Given the description of an element on the screen output the (x, y) to click on. 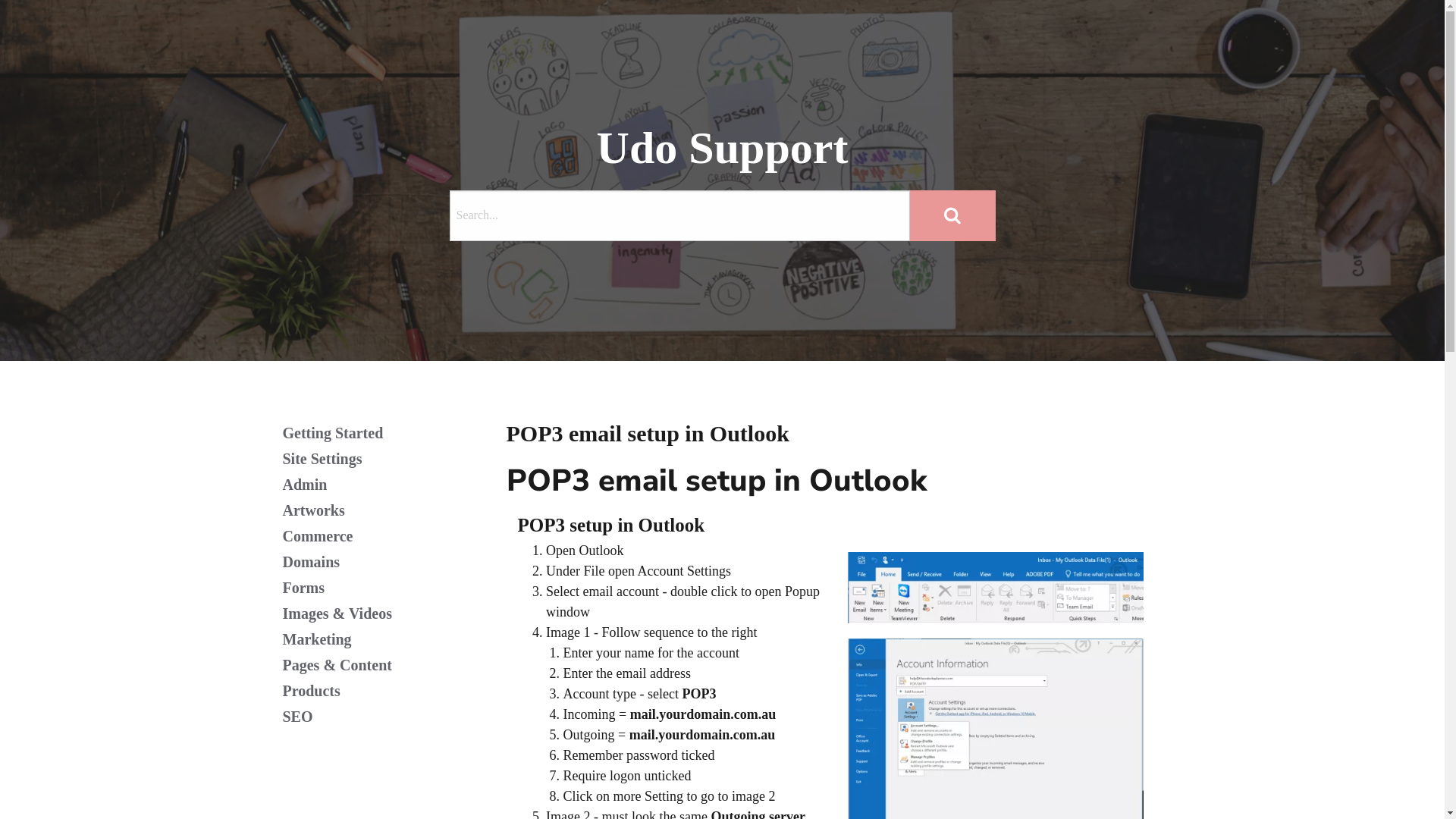
go Element type: text (952, 215)
